Given the description of an element on the screen output the (x, y) to click on. 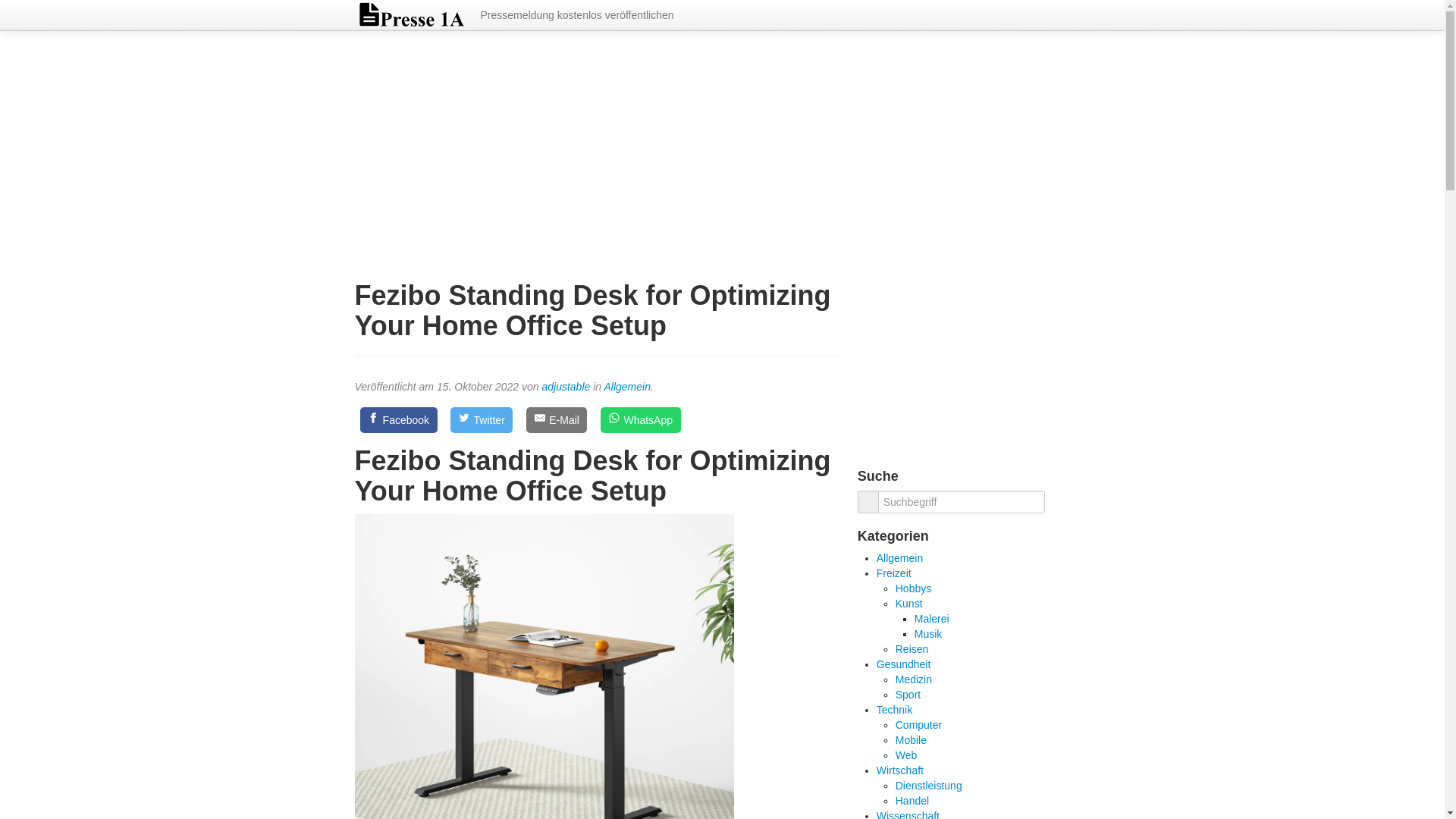
Reisen (911, 648)
Wissenschaft (907, 814)
Gesundheit (903, 664)
Advertisement (973, 360)
Facebook (397, 420)
Malerei (931, 618)
WhatsApp (639, 420)
Musik (928, 633)
E-Mail (555, 420)
Computer (918, 725)
